Given the description of an element on the screen output the (x, y) to click on. 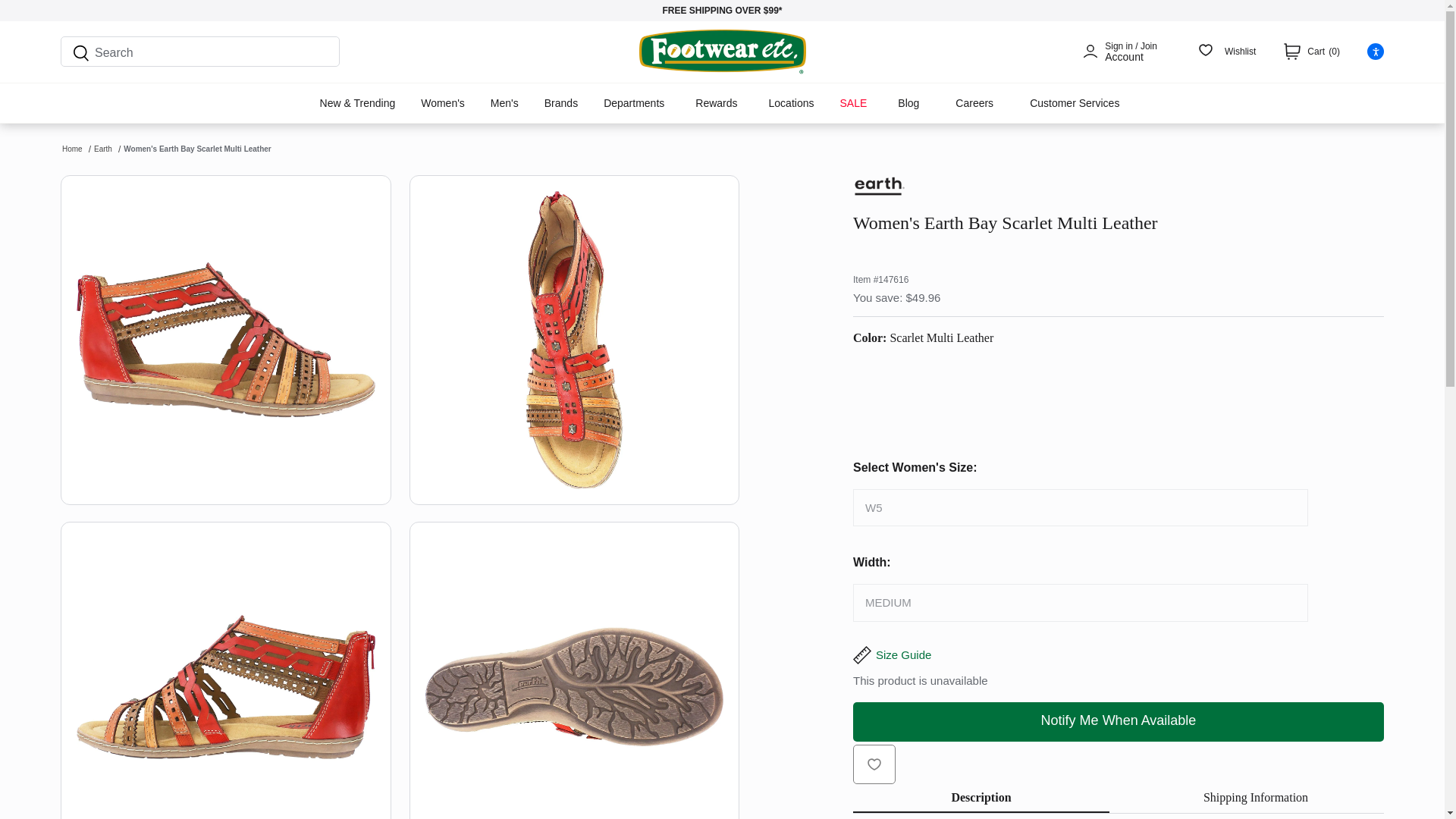
Add to Wishlist (874, 763)
Wishlist (1227, 51)
Footwear etc. (722, 51)
View Wishlist (1227, 51)
